Given the description of an element on the screen output the (x, y) to click on. 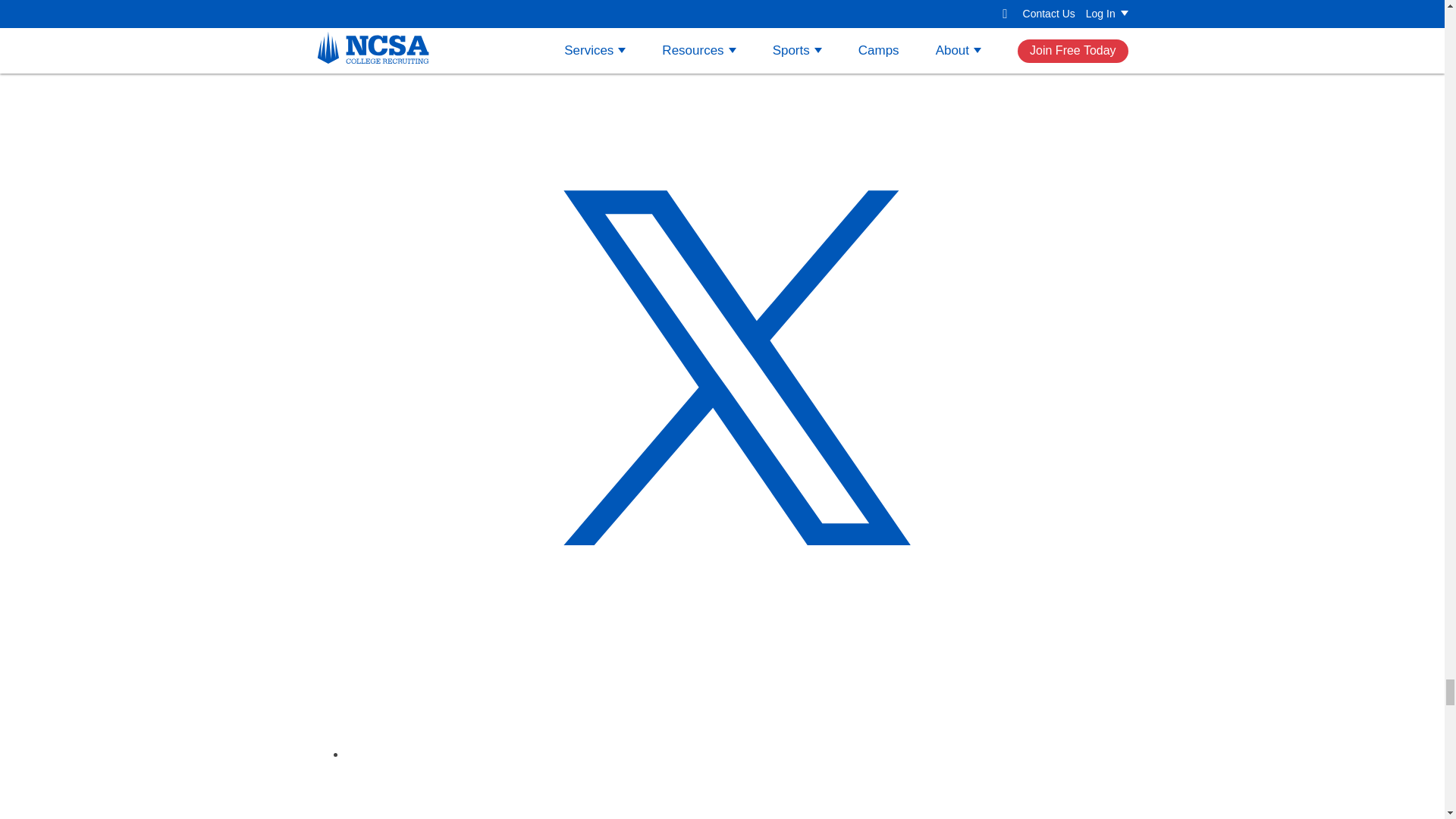
Facebook link (737, 791)
